Given the description of an element on the screen output the (x, y) to click on. 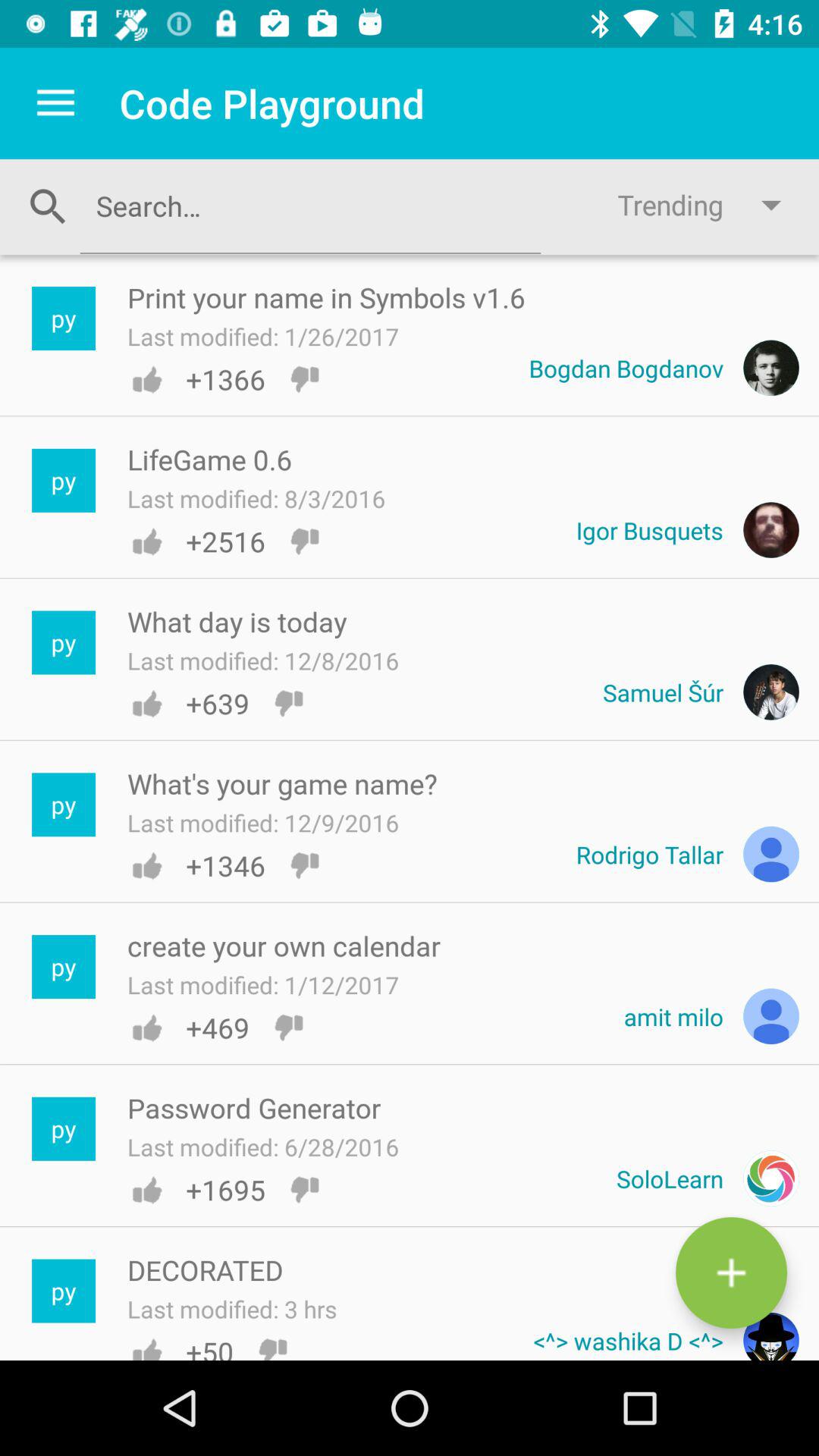
create new (731, 1272)
